Given the description of an element on the screen output the (x, y) to click on. 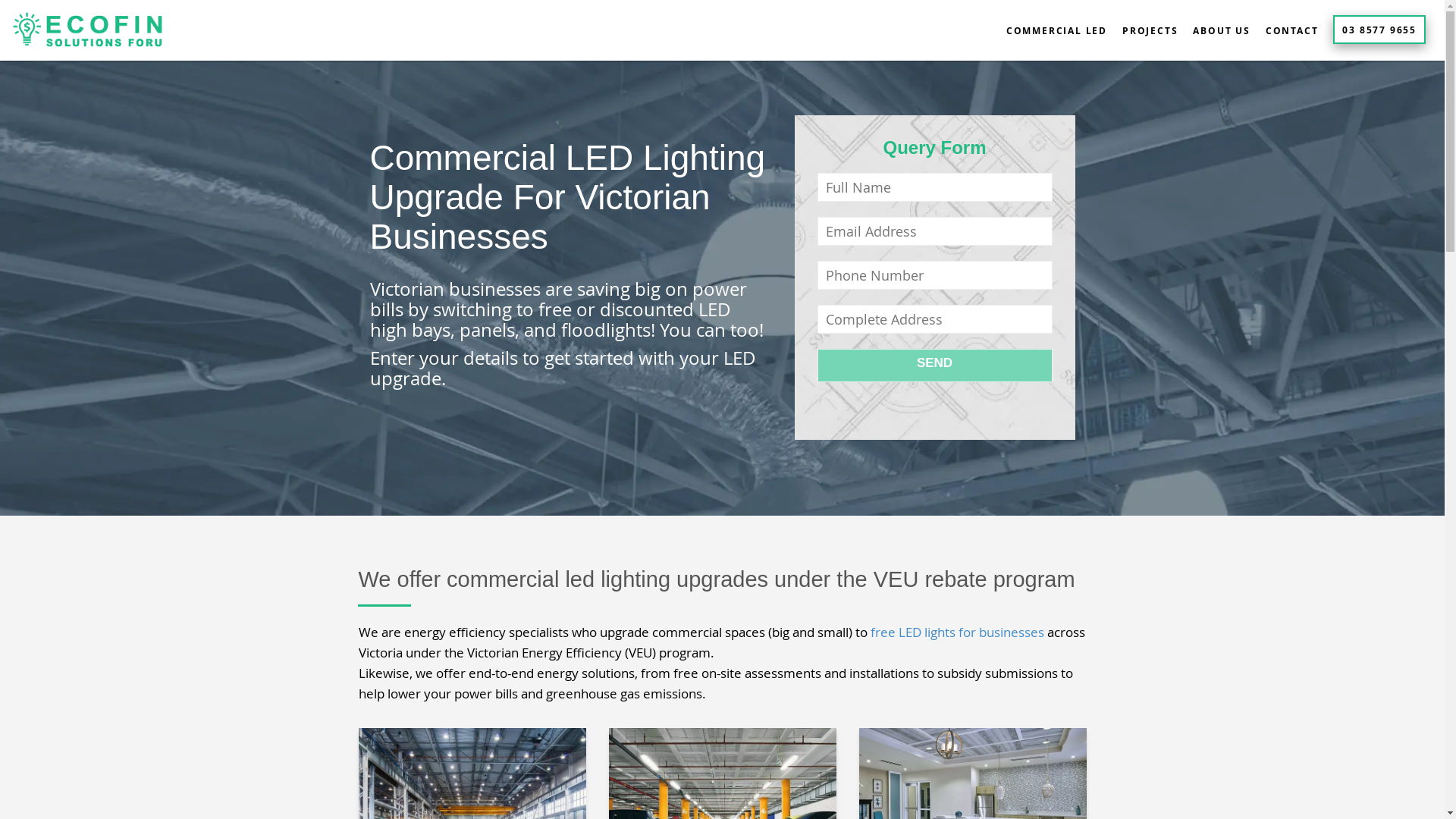
free LED lights for businesses Element type: text (957, 631)
Send Element type: text (934, 365)
03 8577 9655 Element type: text (1379, 29)
Ecofin Solutions Element type: hover (94, 30)
COMMERCIAL LED Element type: text (1056, 30)
ABOUT US Element type: text (1220, 30)
CONTACT Element type: text (1291, 30)
PROJECTS Element type: text (1149, 30)
